Given the description of an element on the screen output the (x, y) to click on. 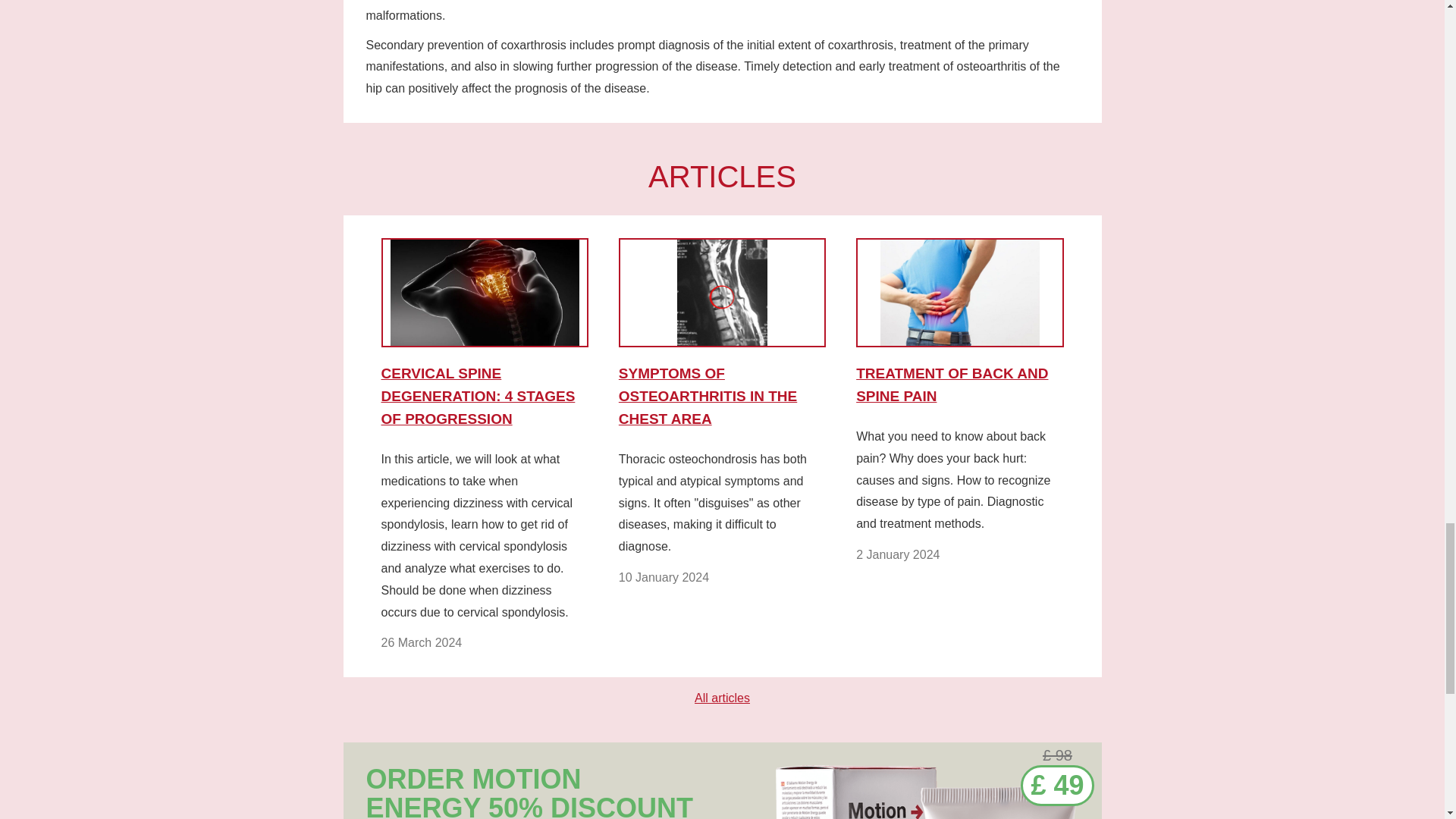
CERVICAL SPINE DEGENERATION: 4 STAGES OF PROGRESSION (484, 338)
TREATMENT OF BACK AND SPINE PAIN (959, 326)
SYMPTOMS OF OSTEOARTHRITIS IN THE CHEST AREA (721, 338)
All articles (721, 697)
